Given the description of an element on the screen output the (x, y) to click on. 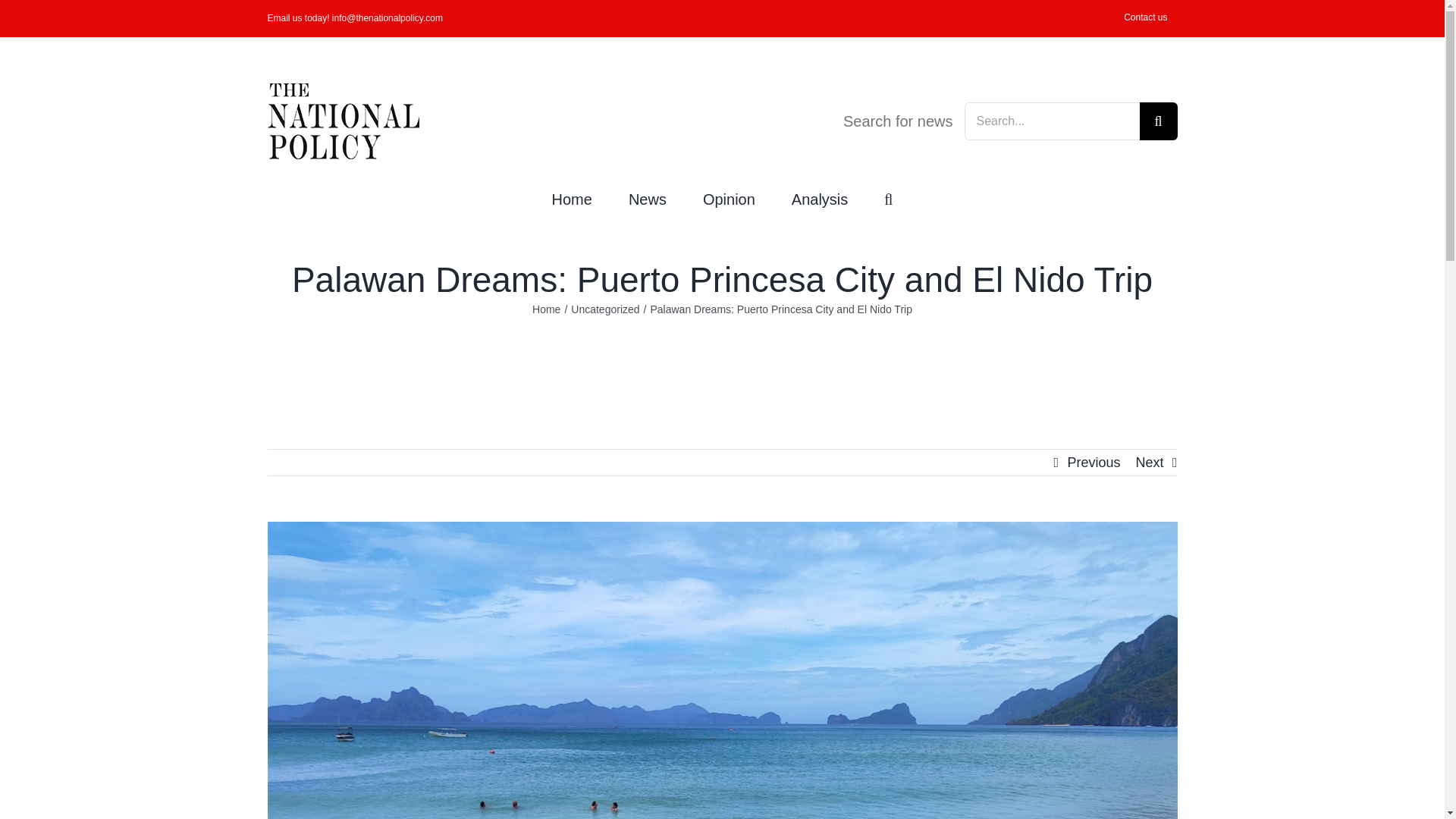
Next (1149, 462)
Uncategorized (604, 309)
Analysis (819, 197)
Opinion (729, 197)
Previous (1093, 462)
Contact us (1144, 18)
Home (546, 309)
News (647, 197)
Search (887, 197)
Home (571, 197)
